Given the description of an element on the screen output the (x, y) to click on. 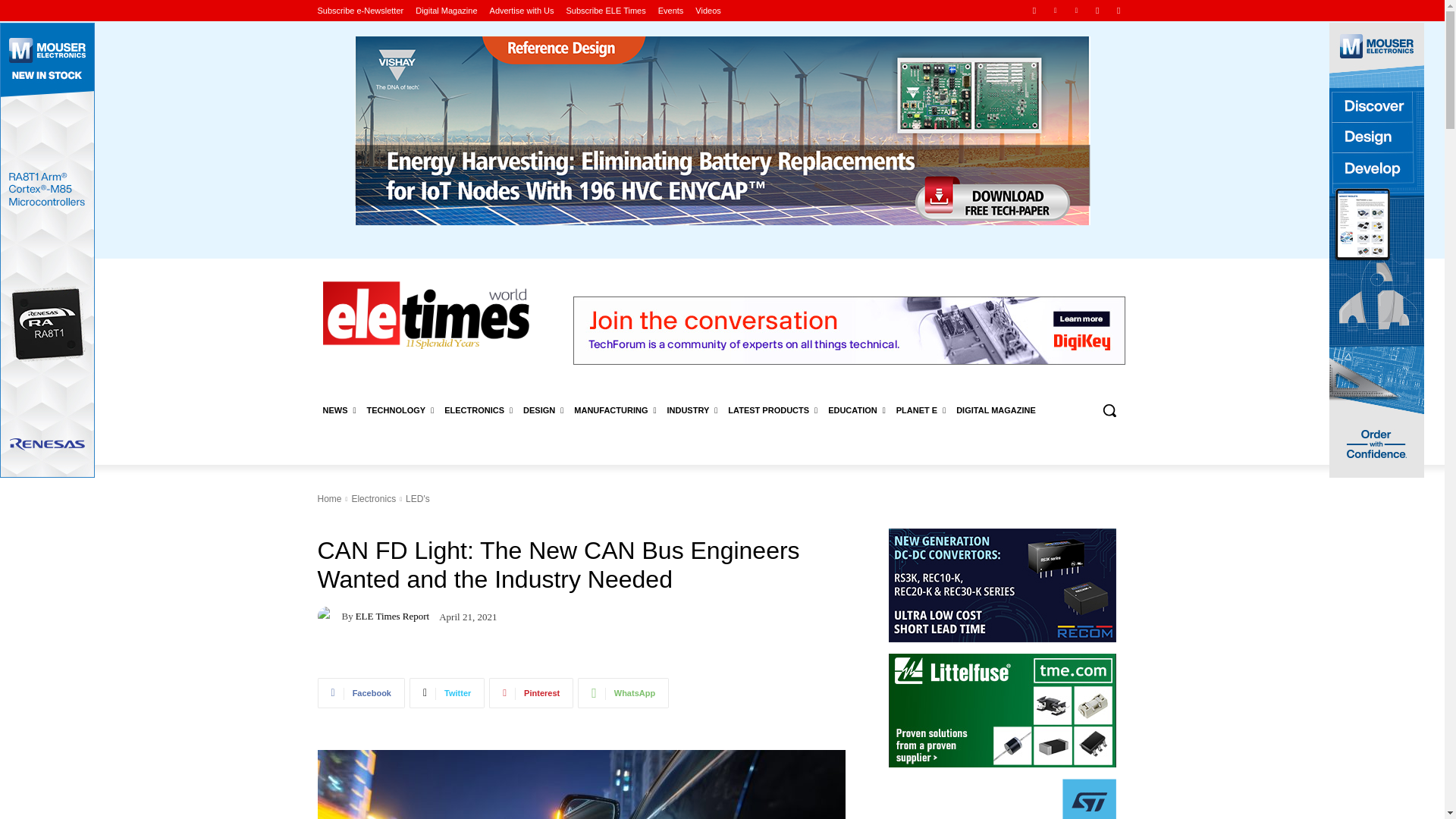
Tumblr (1097, 9)
Facebook (1034, 9)
Twitter (1117, 9)
Pinterest (1075, 9)
Linkedin (1055, 9)
